Given the description of an element on the screen output the (x, y) to click on. 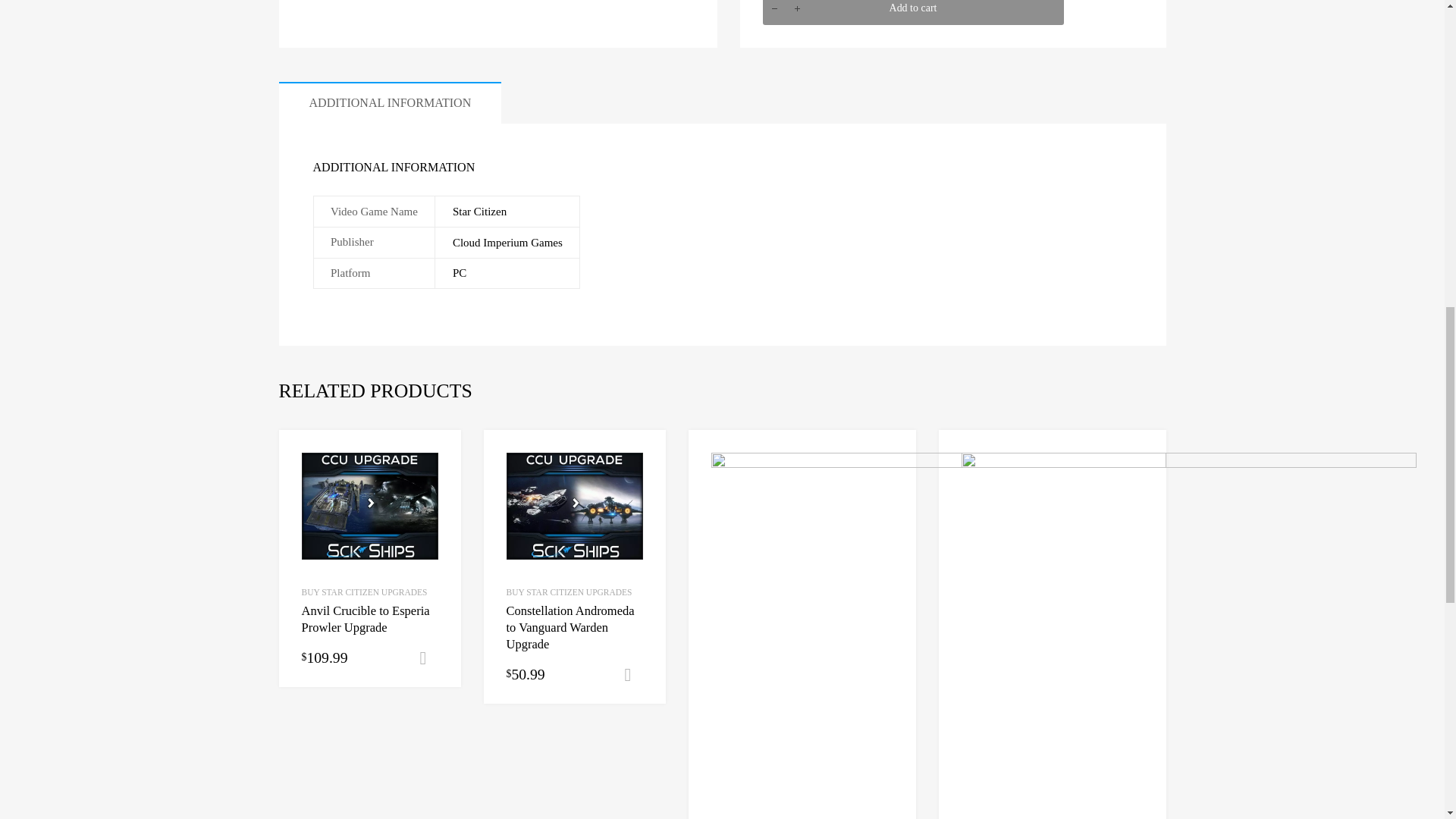
Add to cart (913, 12)
ADDITIONAL INFORMATION (390, 102)
